Given the description of an element on the screen output the (x, y) to click on. 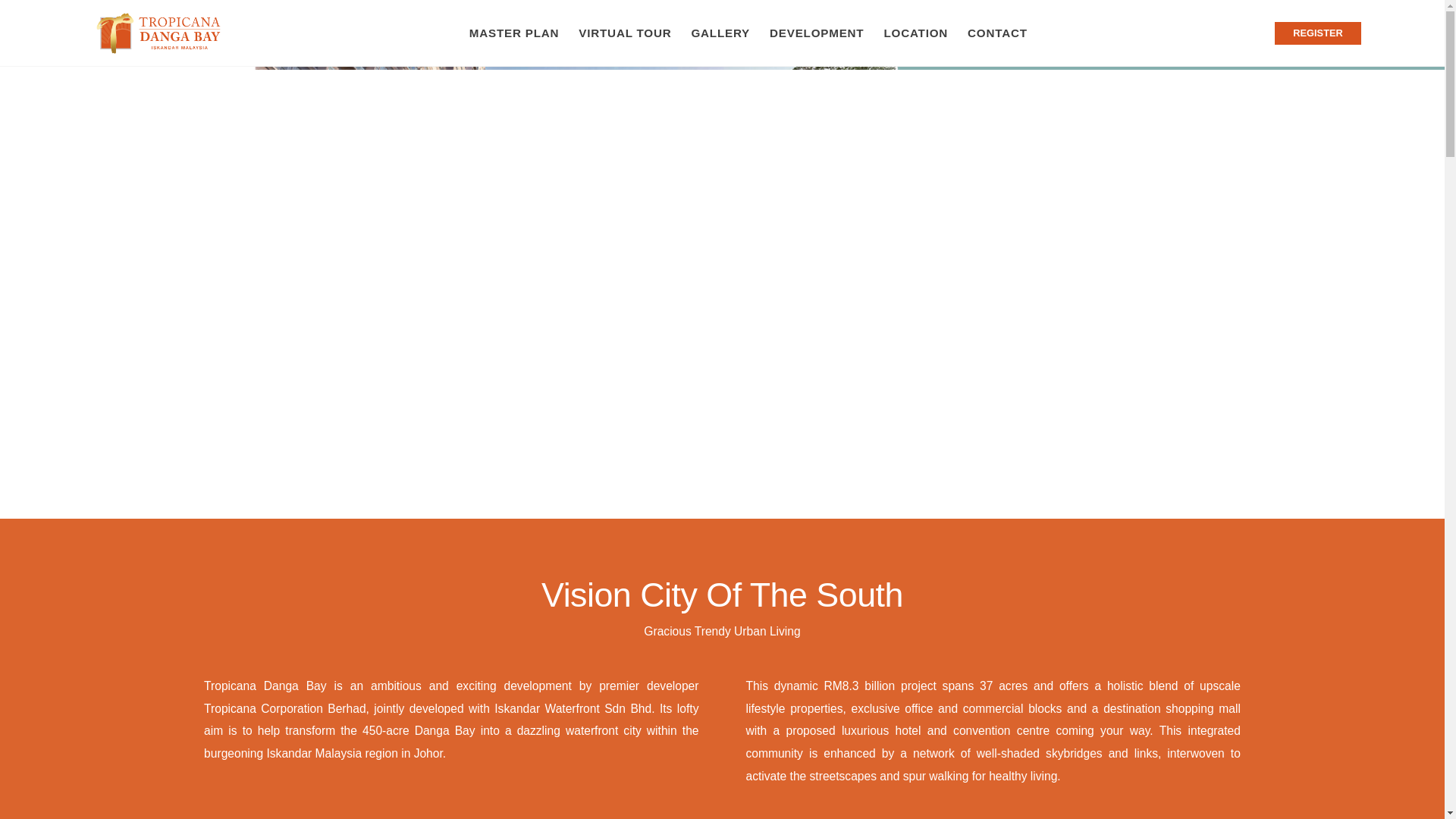
LOCATION (915, 33)
GALLERY (719, 33)
MASTER PLAN (514, 33)
VIRTUAL TOUR (624, 33)
CONTACT (997, 33)
DEVELOPMENT (816, 33)
REGISTER (1317, 33)
